Given the description of an element on the screen output the (x, y) to click on. 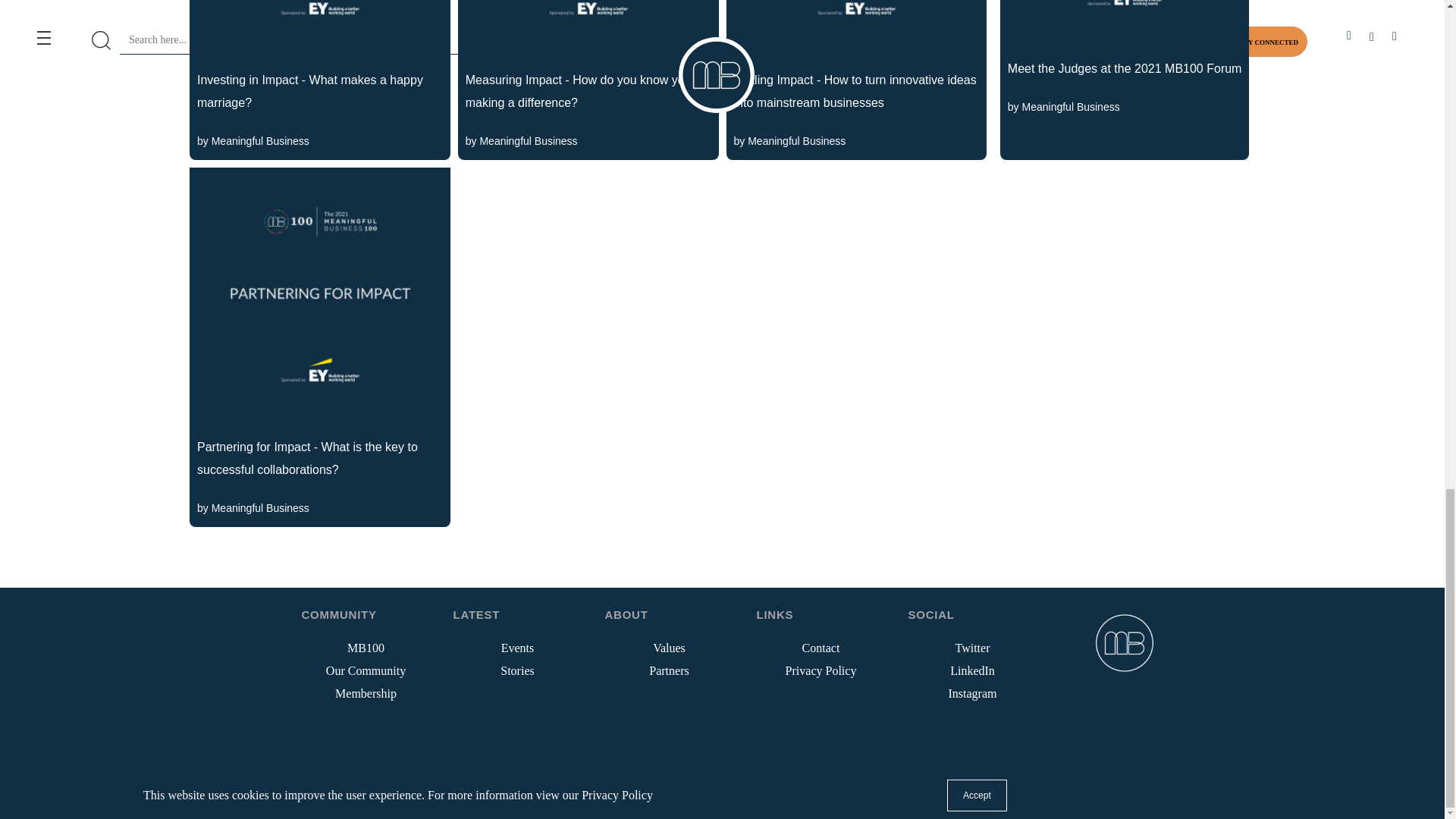
Meaningful Business (527, 141)
Investing in Impact - What makes a happy marriage? (319, 61)
Meaningful Business (259, 141)
